Given the description of an element on the screen output the (x, y) to click on. 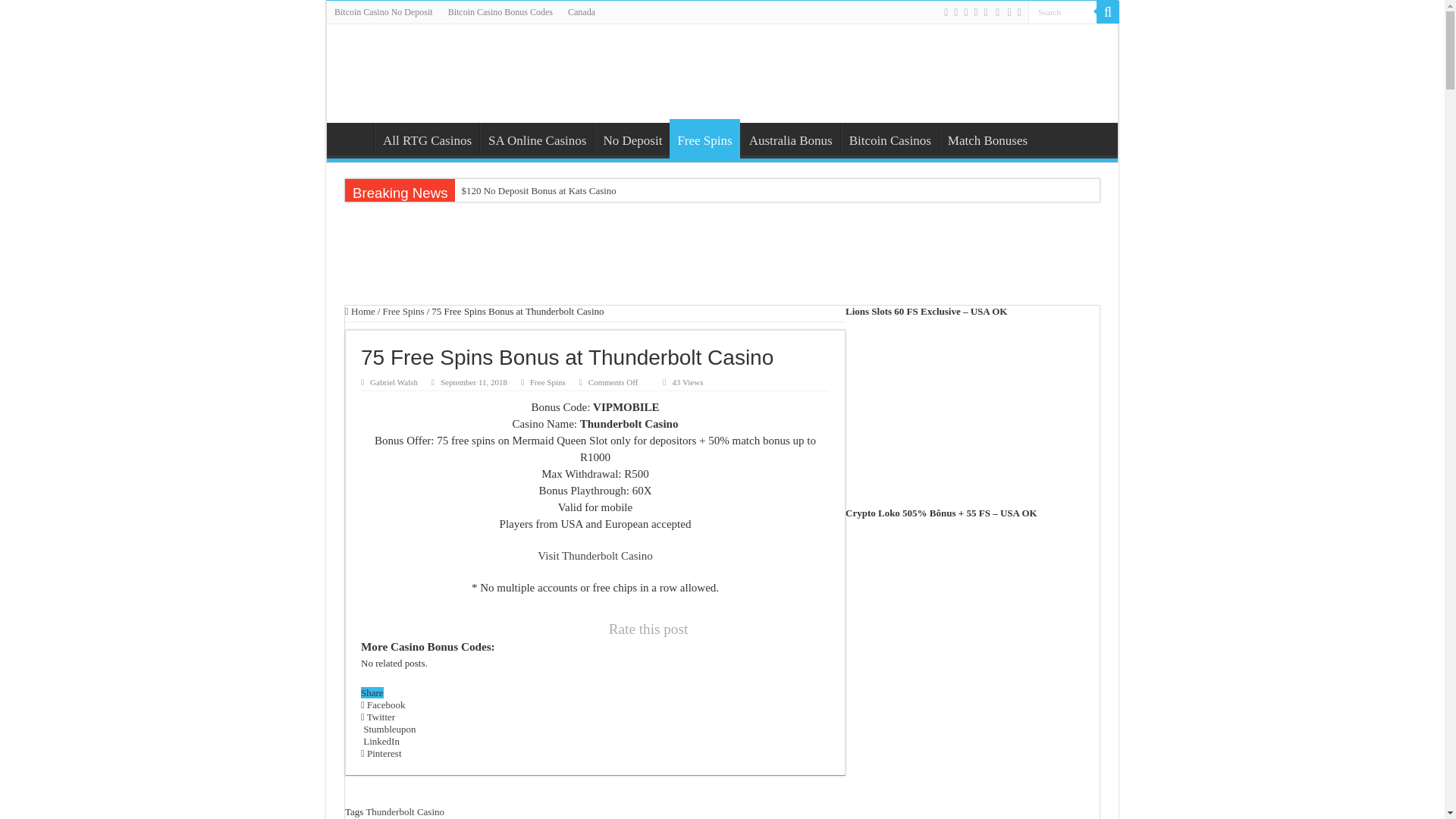
Bitcoin Casino No Deposit (383, 11)
SA Online Casinos (537, 138)
Search (1107, 11)
Search (1061, 11)
Free Spins (704, 138)
Australia Bonus (790, 138)
No Deposit (631, 138)
Match Bonuses (987, 138)
Search (1061, 11)
Canada (581, 11)
